Given the description of an element on the screen output the (x, y) to click on. 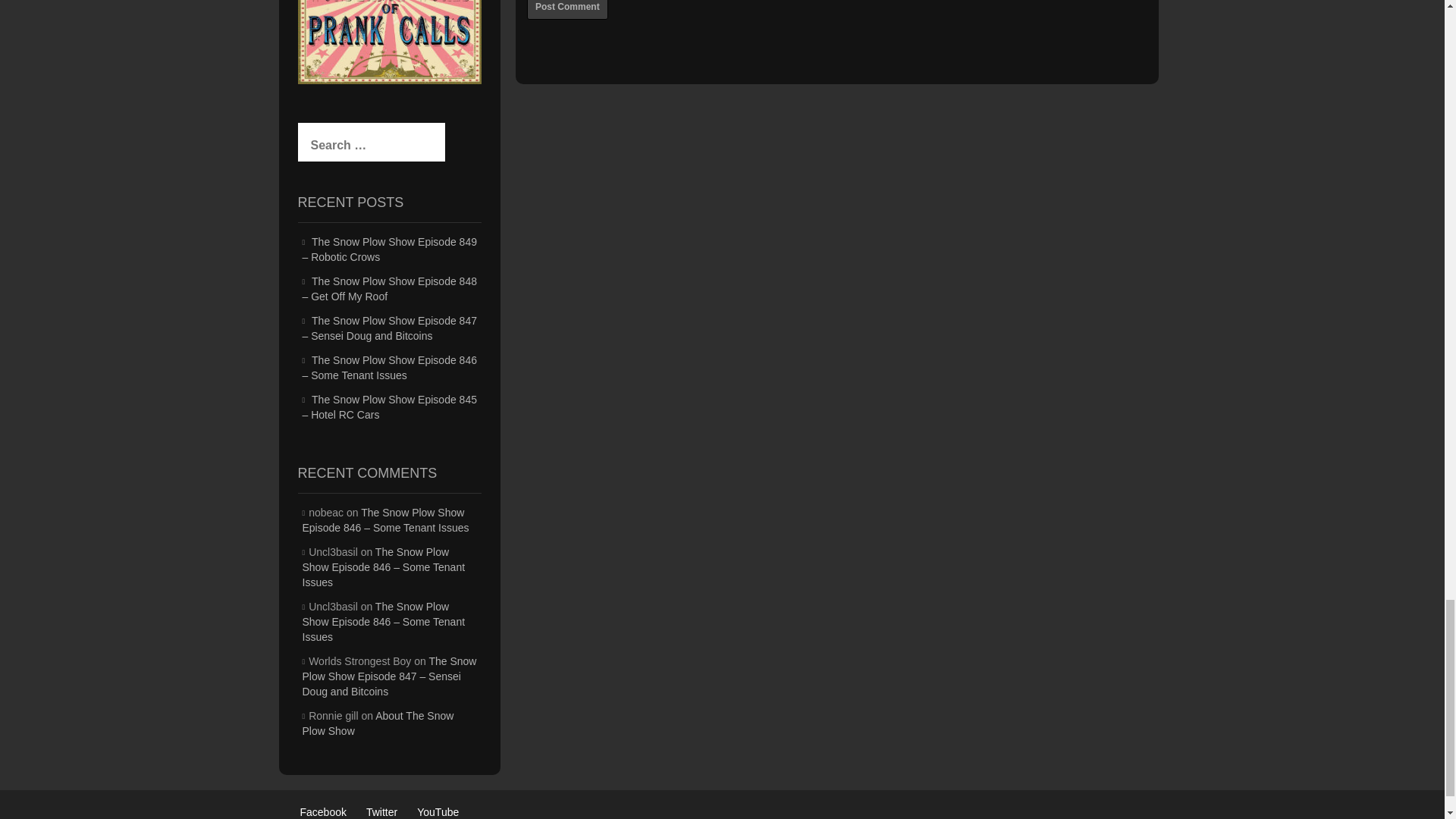
Post Comment (567, 9)
